Given the description of an element on the screen output the (x, y) to click on. 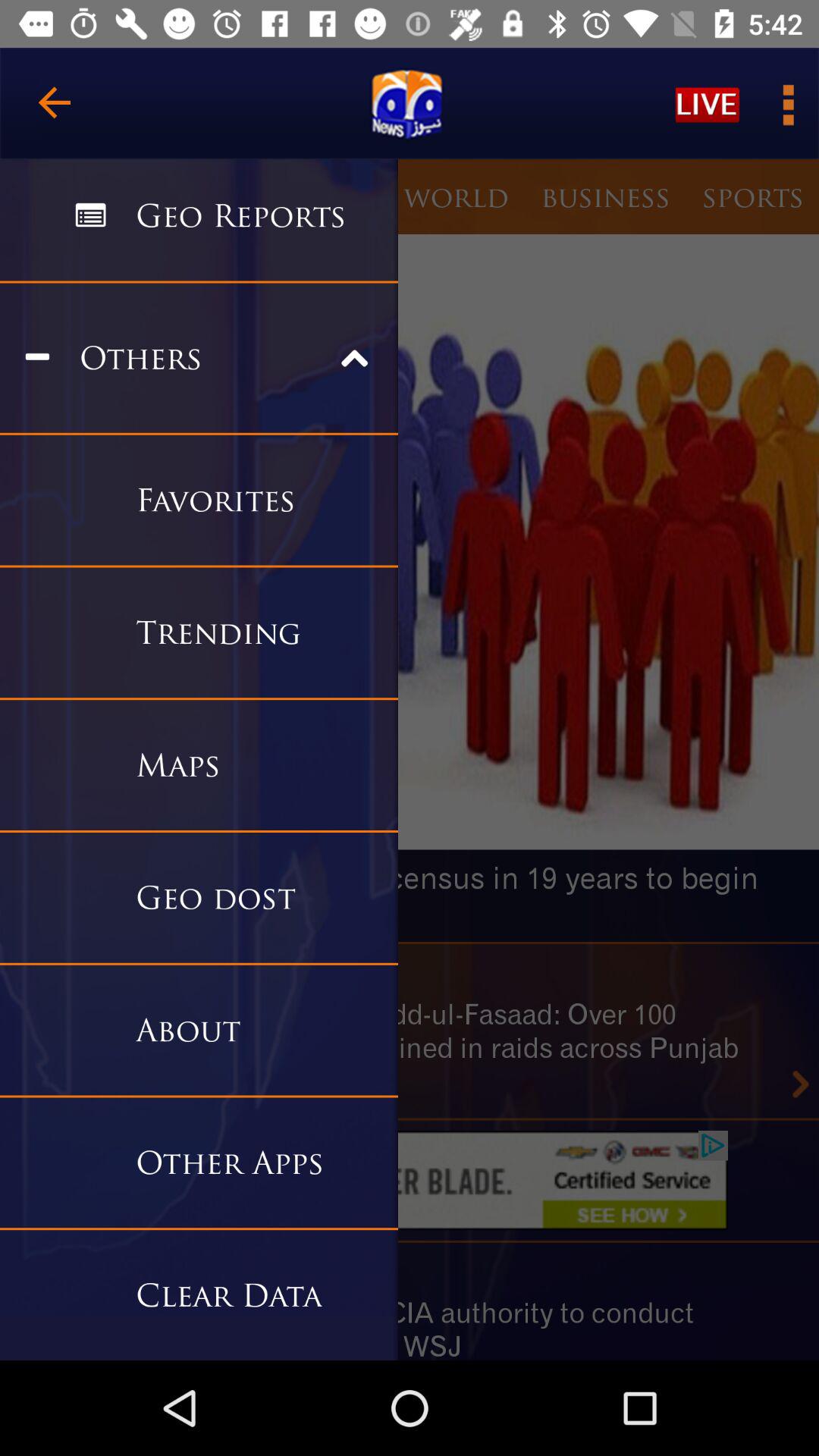
go to the business icon (605, 196)
